Given the description of an element on the screen output the (x, y) to click on. 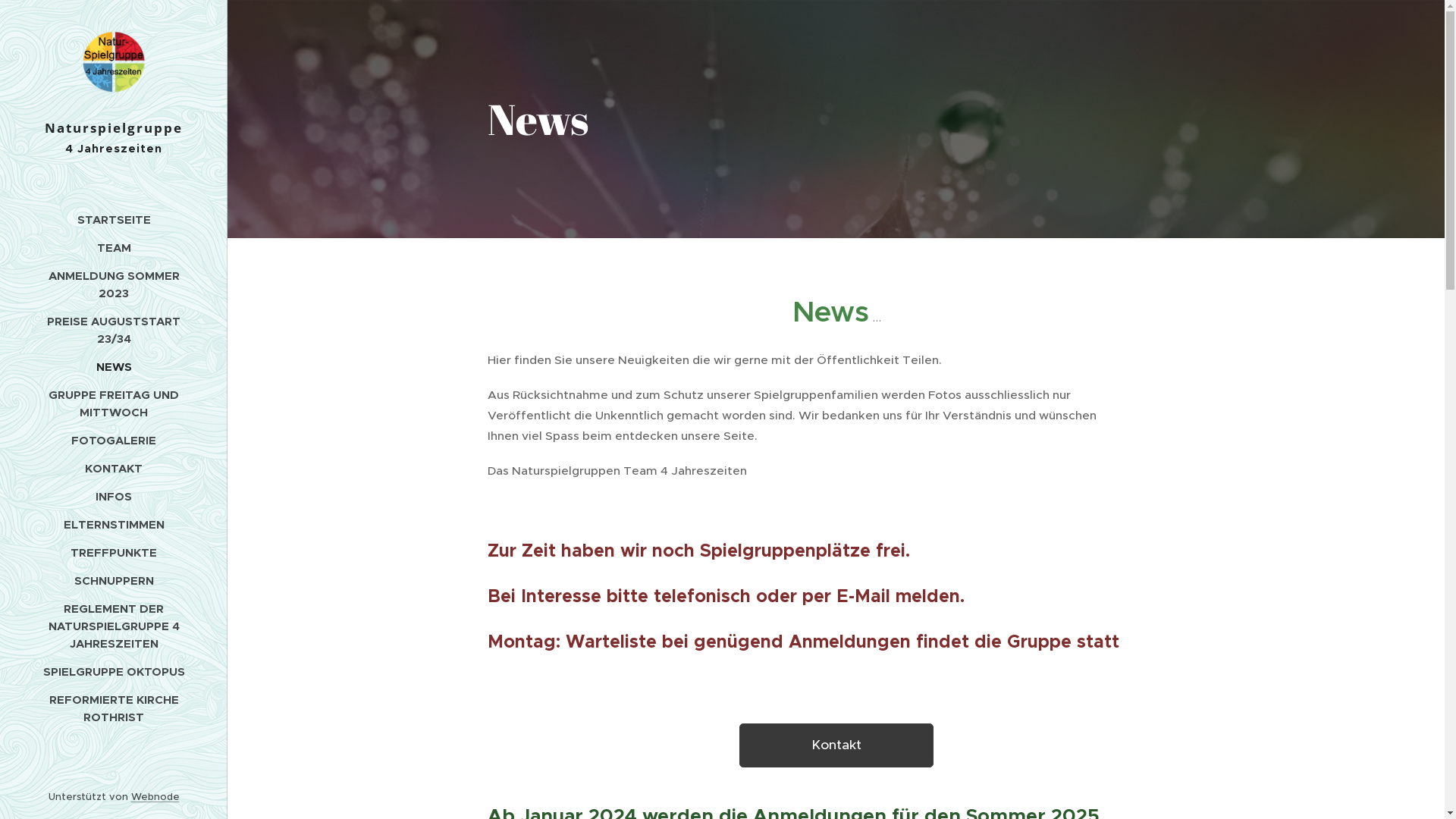
PREISE AUGUSTSTART 23/34 Element type: text (113, 329)
FOTOGALERIE Element type: text (113, 439)
REGLEMENT DER NATURSPIELGRUPPE 4 JAHRESZEITEN Element type: text (113, 625)
INFOS Element type: text (113, 496)
Naturspielgruppe Element type: text (113, 84)
KONTAKT Element type: text (113, 467)
Kontakt Element type: text (835, 745)
NEWS Element type: text (113, 366)
SPIELGRUPPE OKTOPUS Element type: text (113, 671)
SCHNUPPERN Element type: text (113, 580)
TREFFPUNKTE Element type: text (113, 552)
TEAM Element type: text (113, 247)
STARTSEITE Element type: text (113, 219)
REFORMIERTE KIRCHE ROTHRIST Element type: text (113, 707)
GRUPPE FREITAG UND MITTWOCH Element type: text (113, 402)
ELTERNSTIMMEN Element type: text (113, 524)
ANMELDUNG SOMMER 2023 Element type: text (113, 283)
Webnode Element type: text (154, 796)
